Given the description of an element on the screen output the (x, y) to click on. 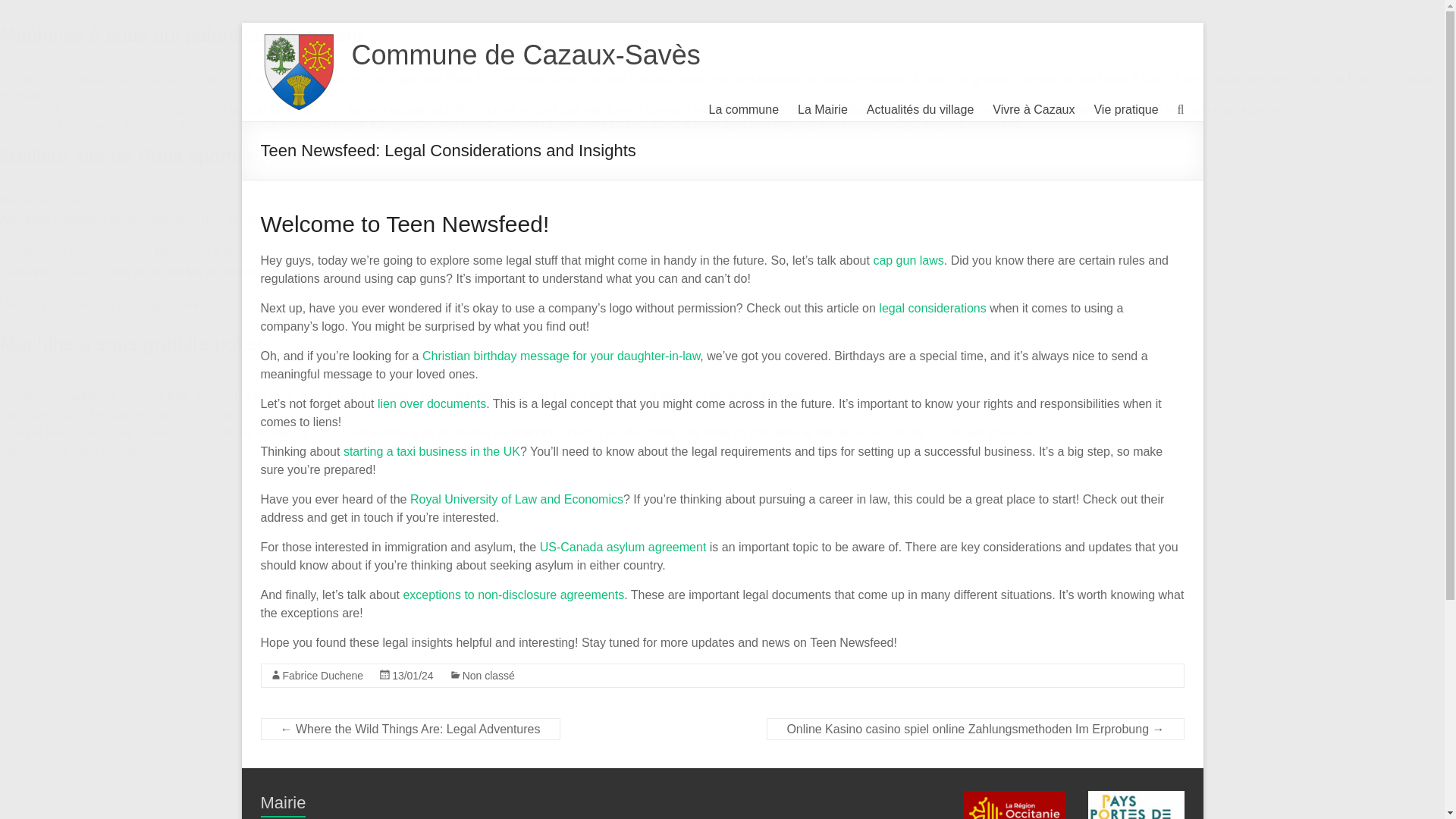
legal considerations (932, 308)
La Mairie (822, 109)
Vie pratique (1125, 109)
Nouvelles De Casino Et Nouvelles De Jeu (113, 377)
9h03 (412, 675)
Machines A Sous Casinos (74, 200)
La commune (743, 109)
cap gun laws (907, 259)
